Given the description of an element on the screen output the (x, y) to click on. 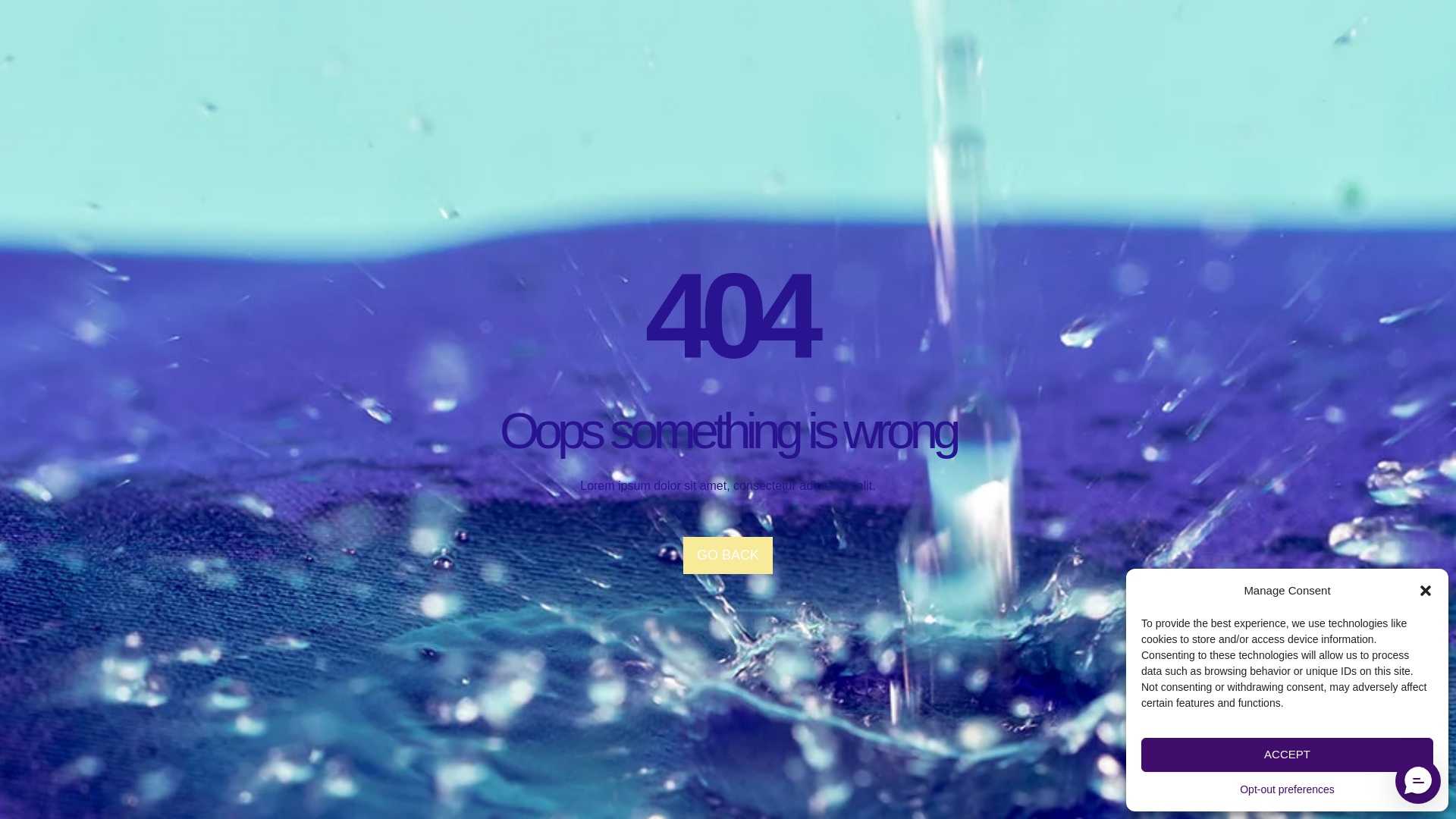
ACCEPT (1286, 754)
GO BACK (727, 555)
Opt-out preferences (1287, 789)
